Given the description of an element on the screen output the (x, y) to click on. 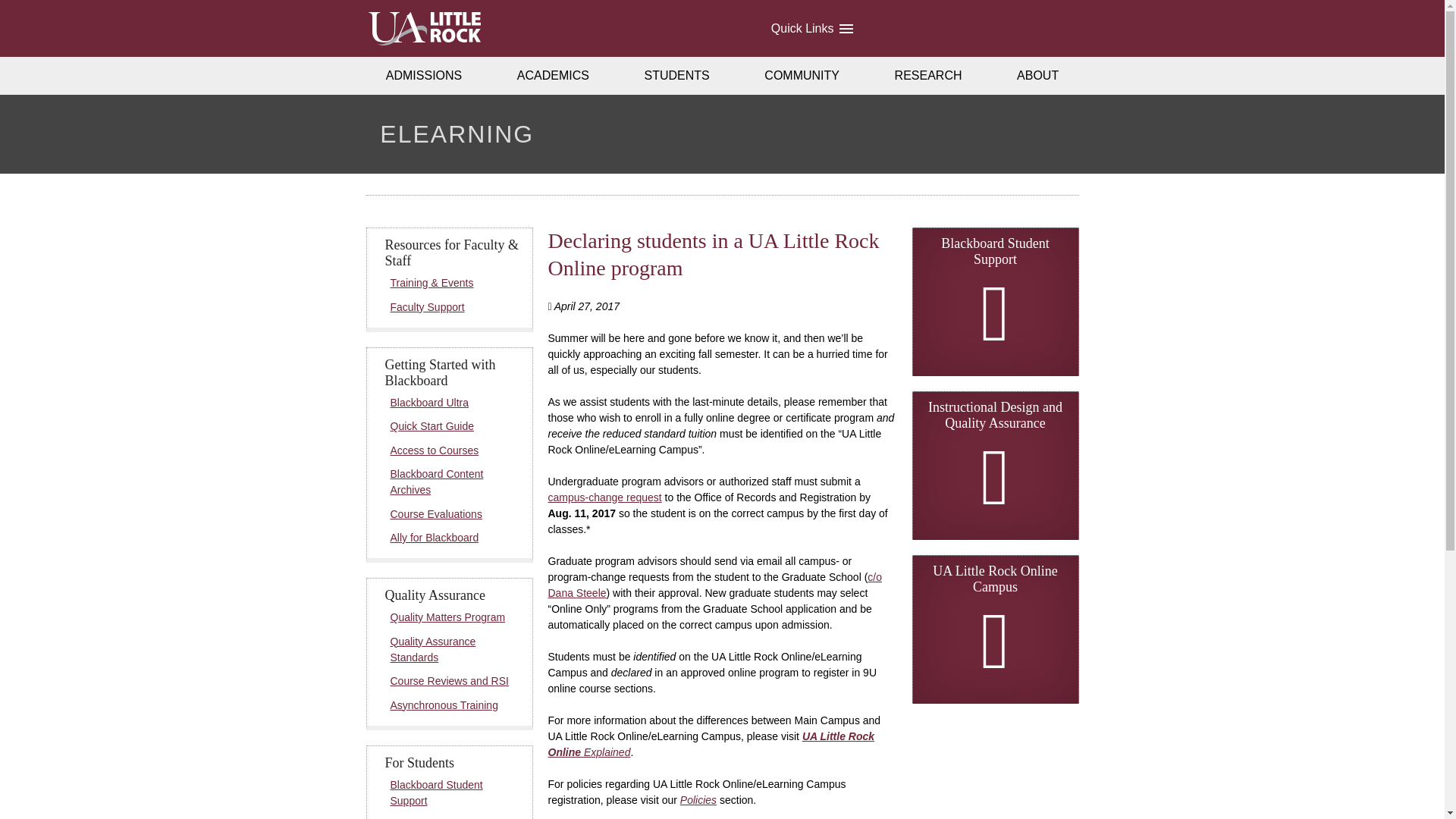
ACADEMICS (553, 75)
Skip to main content (25, 13)
ADMISSIONS (423, 75)
Quick Links (810, 28)
